Given the description of an element on the screen output the (x, y) to click on. 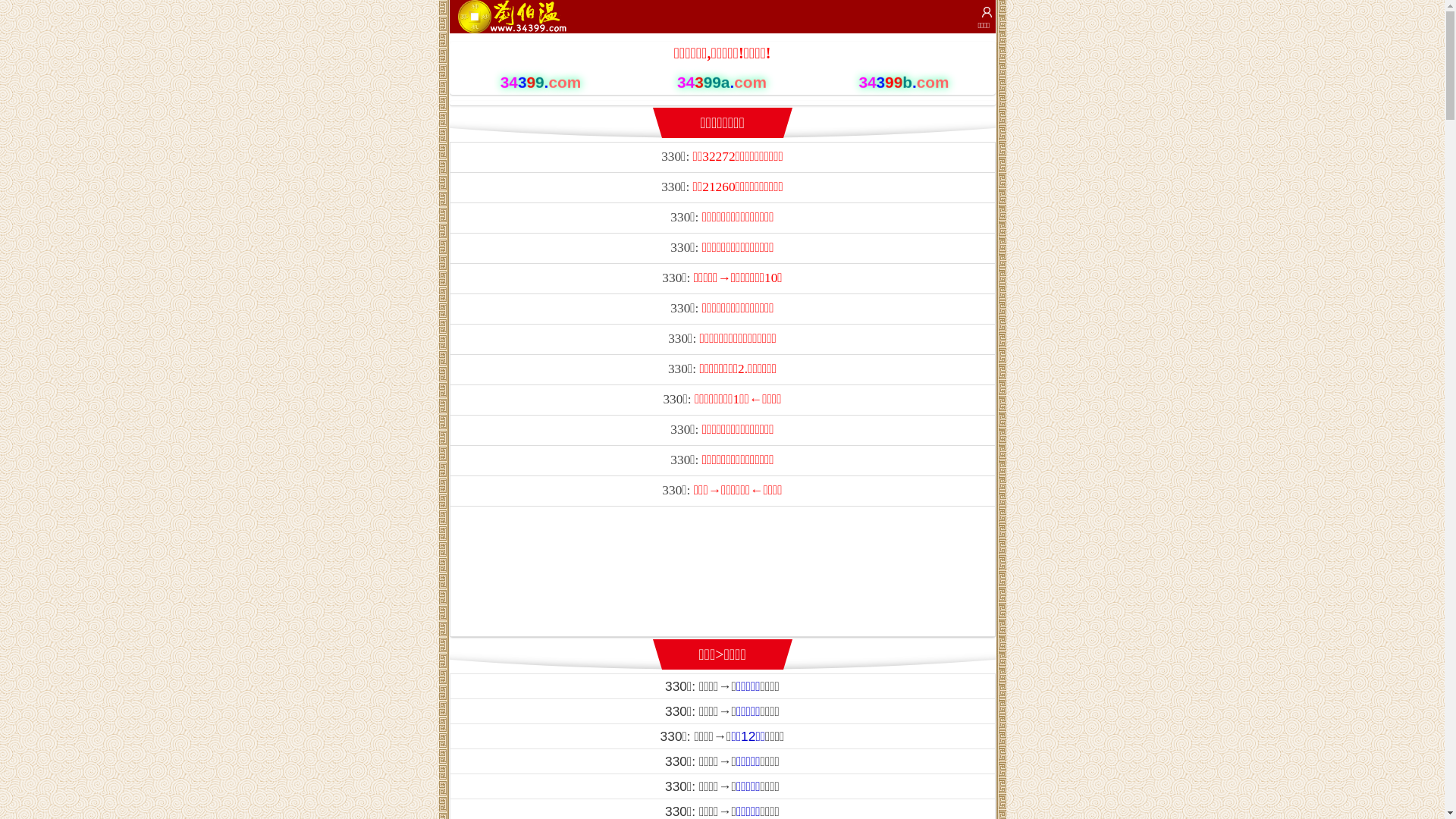
34399b.com Element type: text (903, 82)
34399a.com Element type: text (721, 82)
34399.com Element type: text (539, 82)
